Given the description of an element on the screen output the (x, y) to click on. 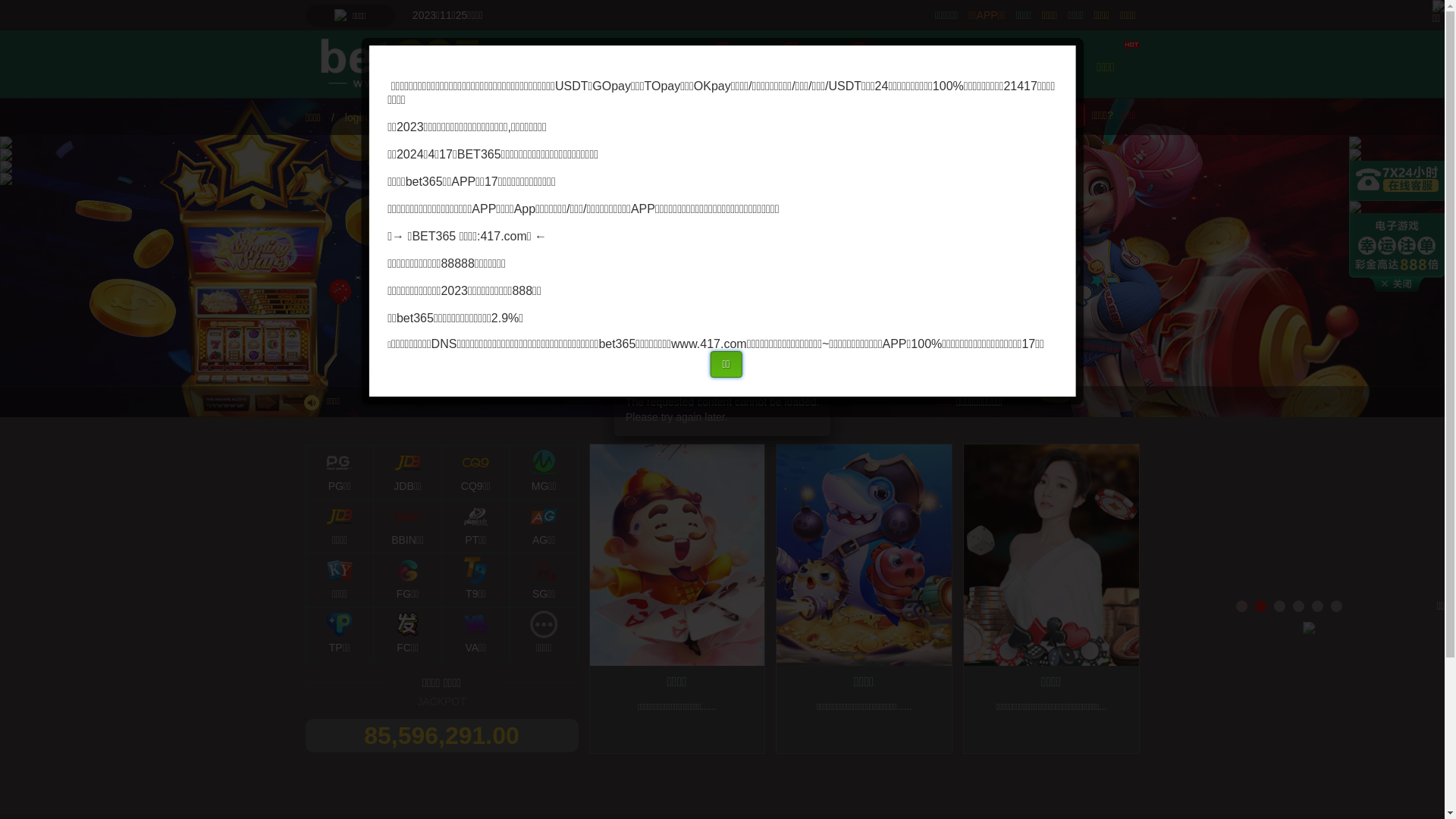
2 Element type: text (1260, 605)
Reset Focus Element type: text (386, 376)
5 Element type: text (1317, 605)
1 Element type: text (1241, 605)
Close Element type: hover (830, 382)
4 Element type: text (1298, 605)
3 Element type: text (1279, 605)
6 Element type: text (1336, 605)
